Given the description of an element on the screen output the (x, y) to click on. 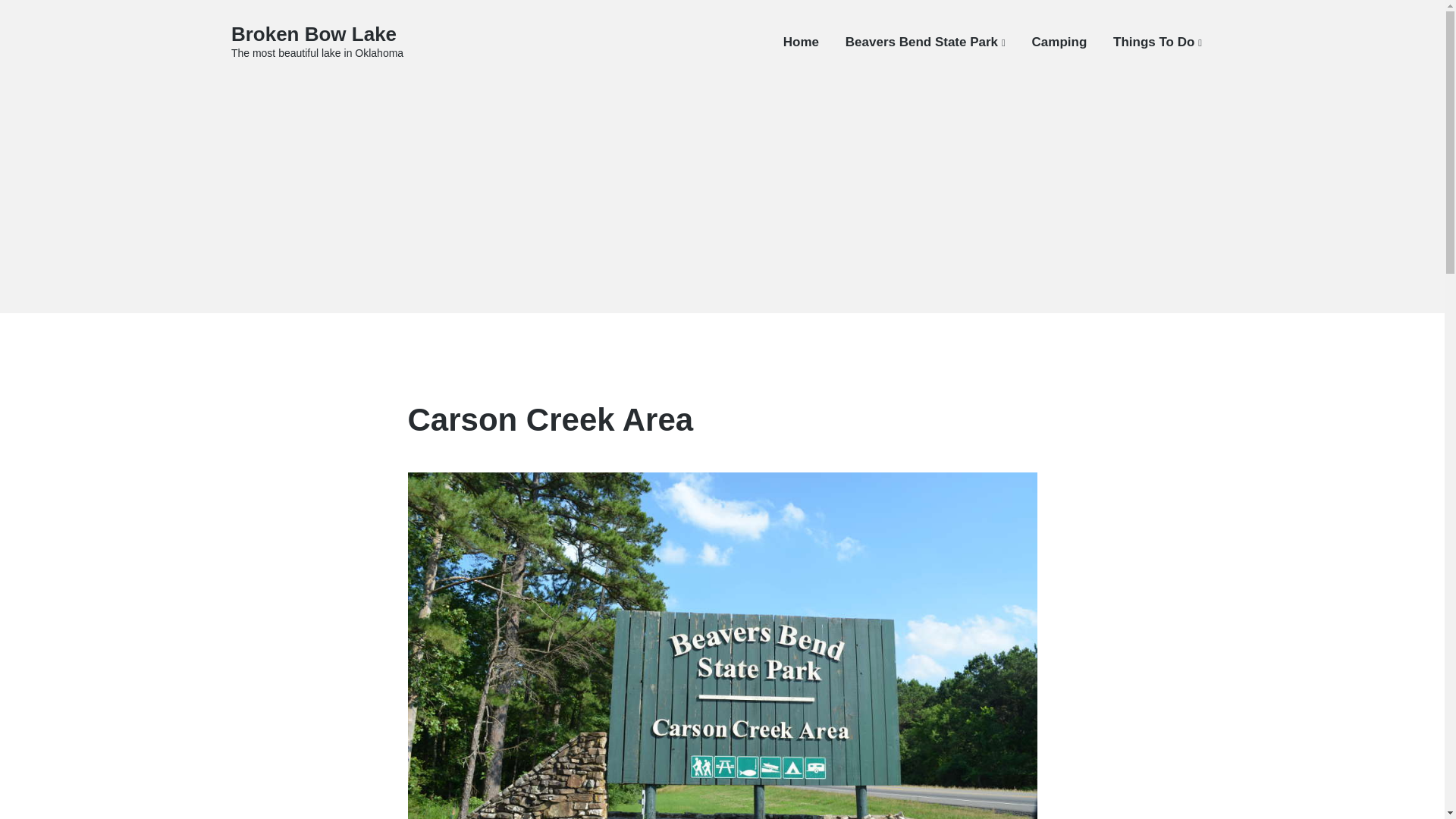
Camping (1059, 42)
Things To Do (1157, 42)
Broken Bow Lake (313, 33)
Home (800, 42)
Beavers Bend State Park (925, 42)
